Given the description of an element on the screen output the (x, y) to click on. 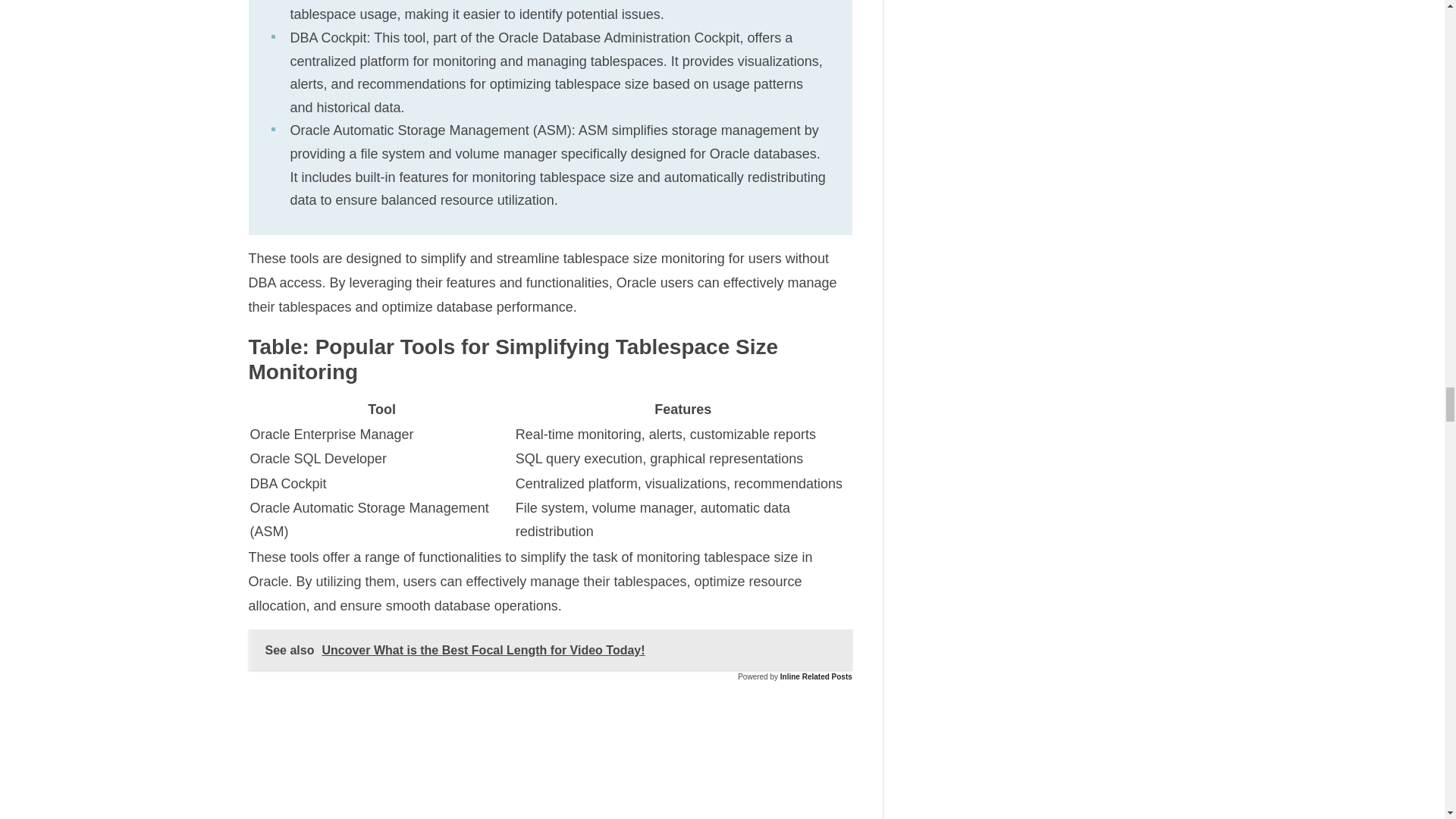
Inline Related Posts (815, 676)
Oracle Tools (549, 757)
